Given the description of an element on the screen output the (x, y) to click on. 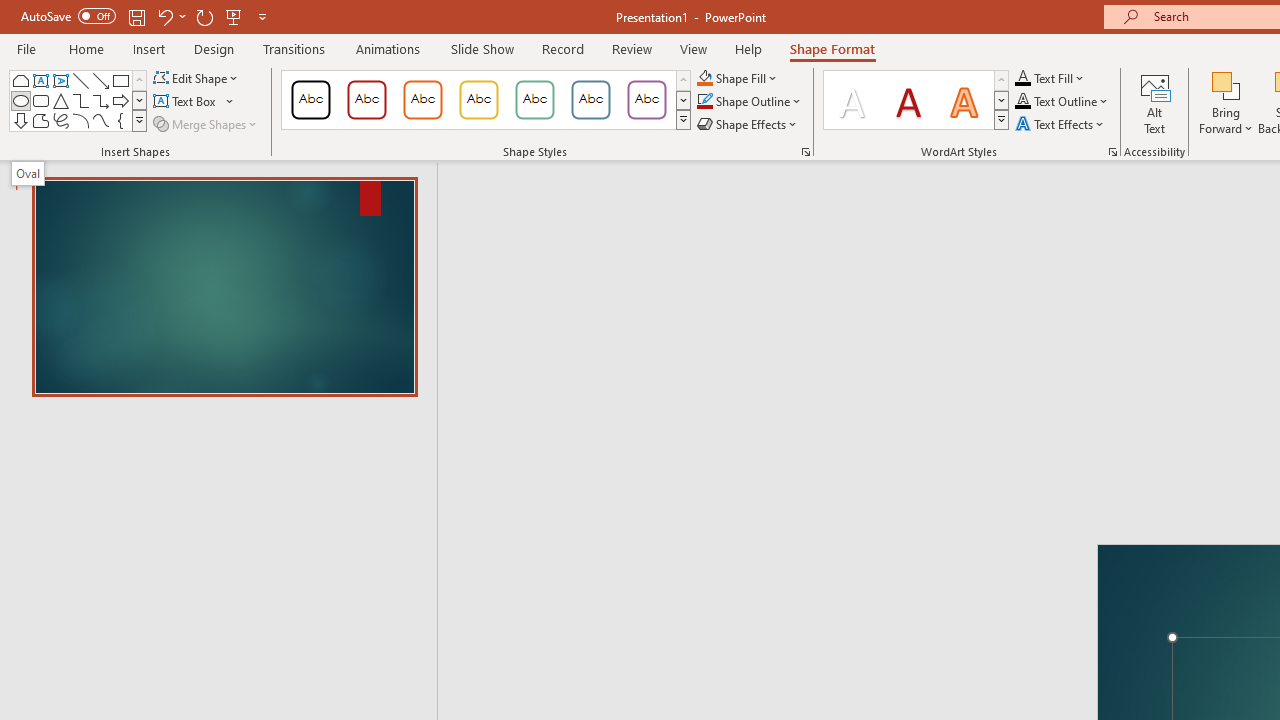
Rectangle: Top Corners Snipped (20, 80)
Freeform: Shape (40, 120)
Shape Format (832, 48)
Bring Forward (1225, 102)
Curve (100, 120)
Text Fill (1050, 78)
Bring Forward (1225, 84)
Format Object... (805, 151)
Format Text Effects... (1112, 151)
Text Box (194, 101)
Colored Outline - Dark Red, Accent 1 (367, 100)
